Given the description of an element on the screen output the (x, y) to click on. 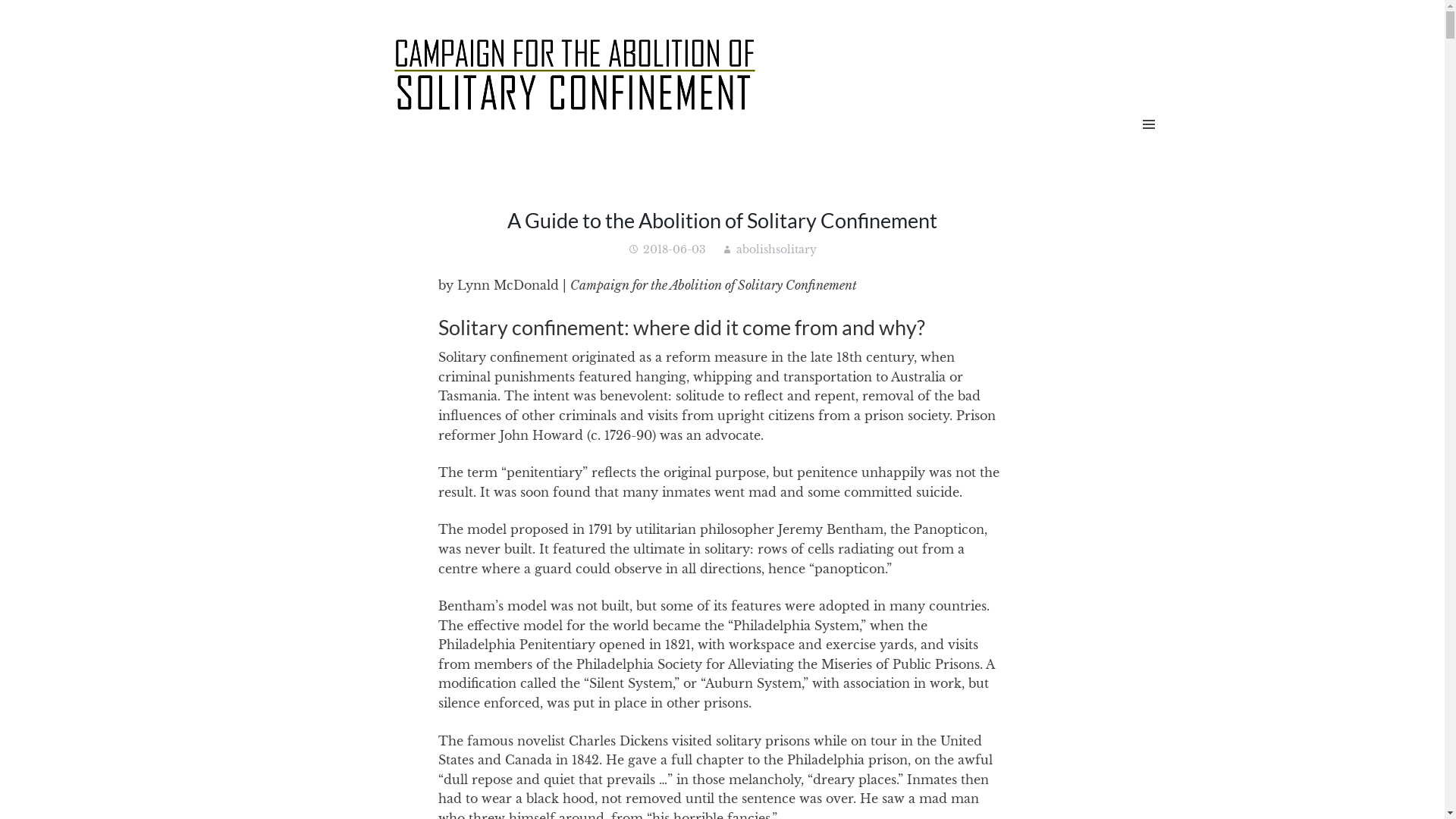
Search Element type: text (45, 21)
A Guide to the Abolition of Solitary Confinement Element type: text (722, 219)
abolishsolitary Element type: text (776, 249)
2018-06-03 Element type: text (674, 249)
